Given the description of an element on the screen output the (x, y) to click on. 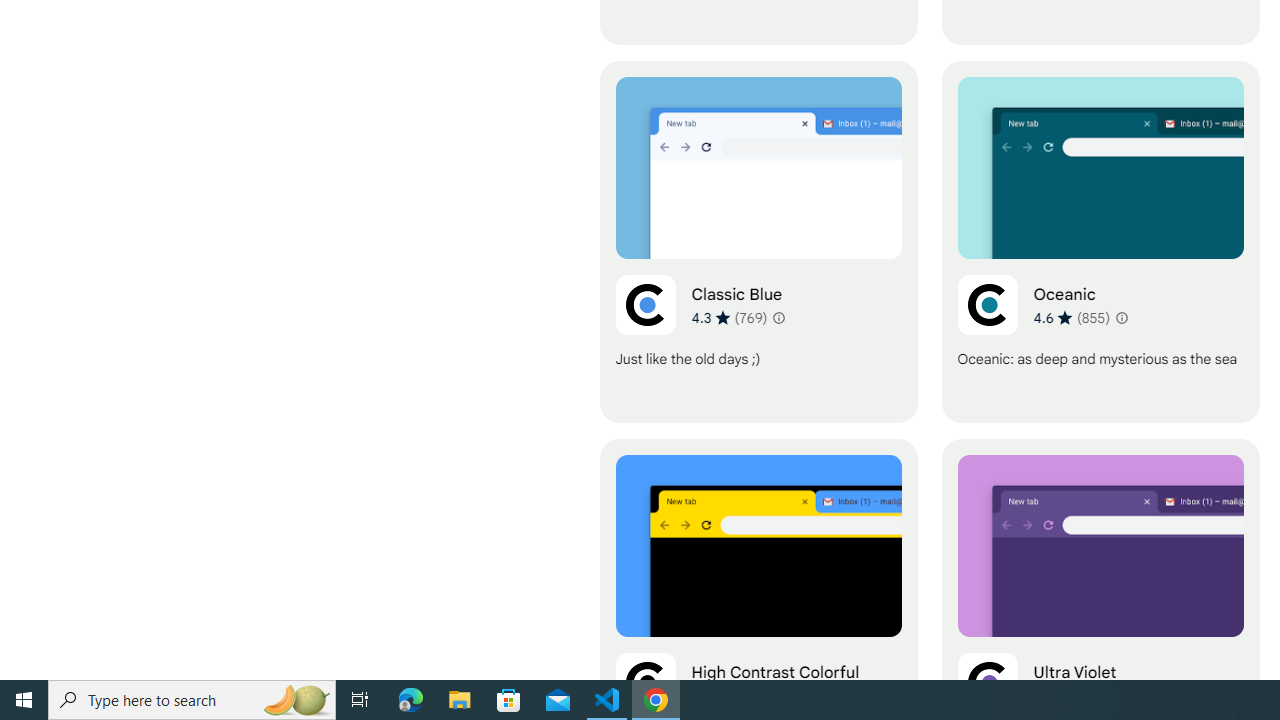
Learn more about results and reviews "Classic Blue" (778, 317)
Learn more about results and reviews "Oceanic" (1120, 317)
Average rating 4.3 out of 5 stars. 769 ratings. (729, 317)
Oceanic (1099, 242)
Average rating 4.6 out of 5 stars. 855 ratings. (1071, 317)
Classic Blue (758, 242)
